Given the description of an element on the screen output the (x, y) to click on. 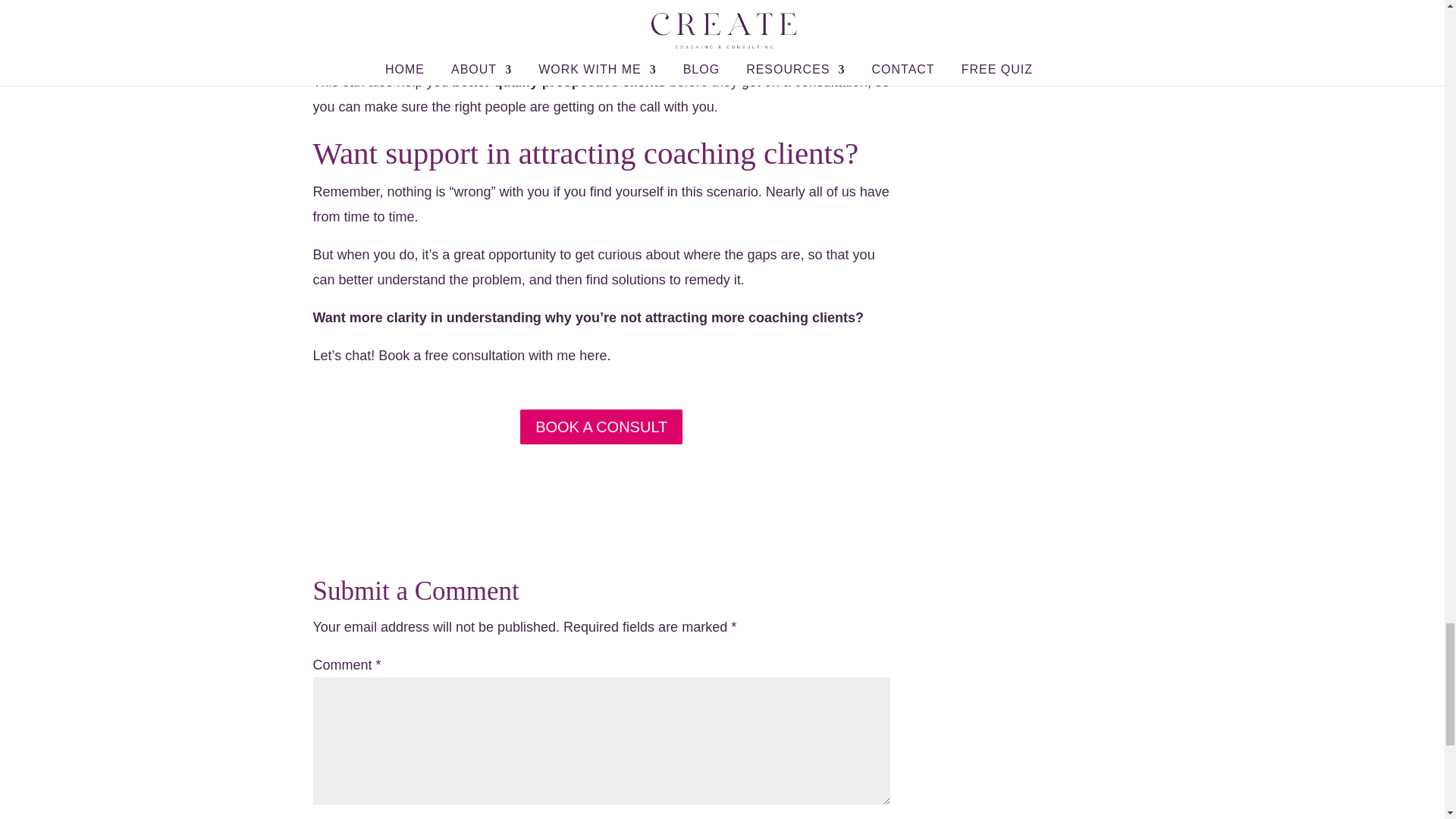
BOOK A CONSULT (600, 426)
